Given the description of an element on the screen output the (x, y) to click on. 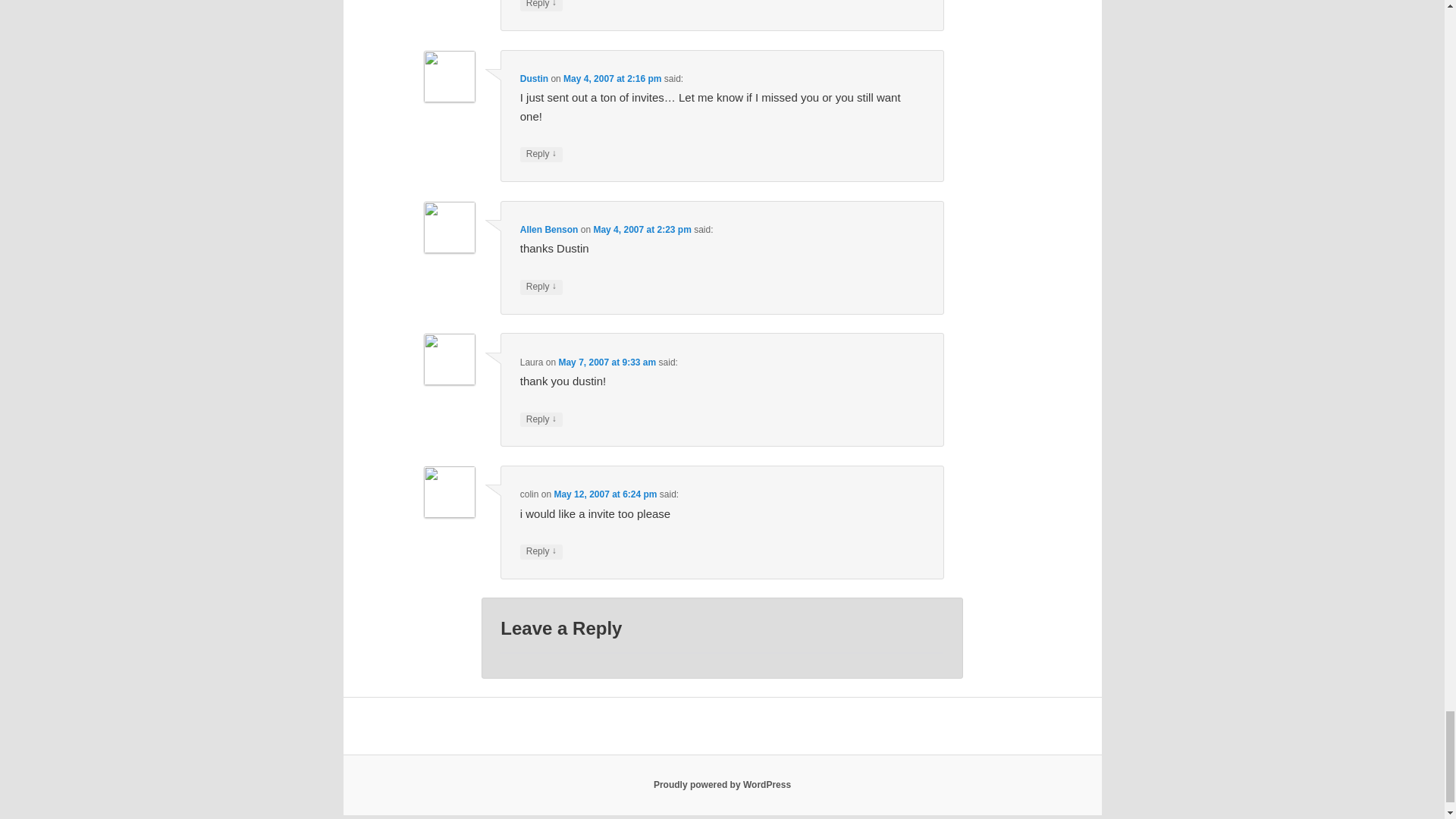
Semantic Personal Publishing Platform (721, 784)
